Given the description of an element on the screen output the (x, y) to click on. 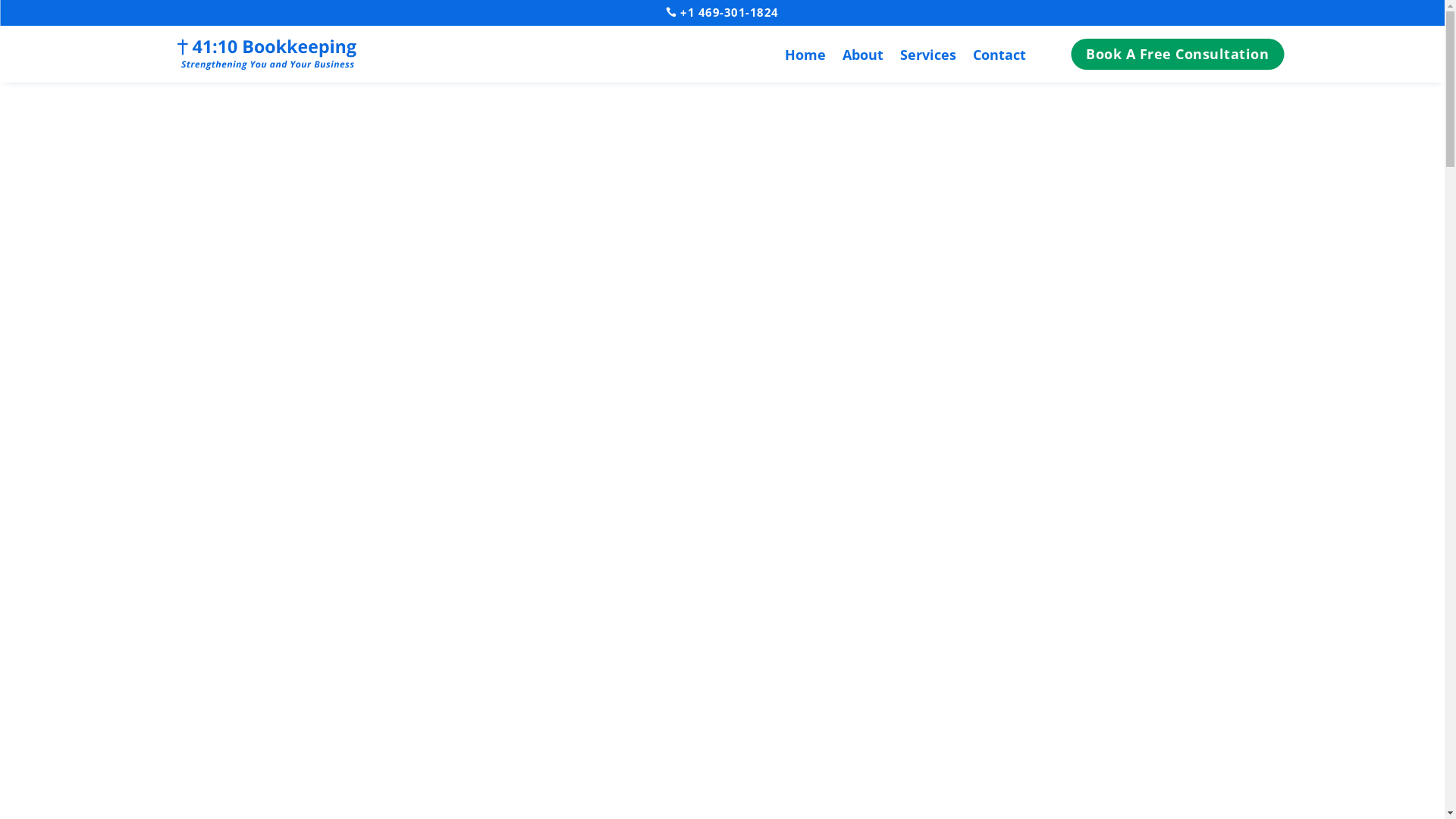
Book A Free Consultation Element type: text (1176, 53)
Contact Element type: text (999, 57)
About Element type: text (862, 57)
Home Element type: text (804, 57)
Services Element type: text (928, 57)
